Given the description of an element on the screen output the (x, y) to click on. 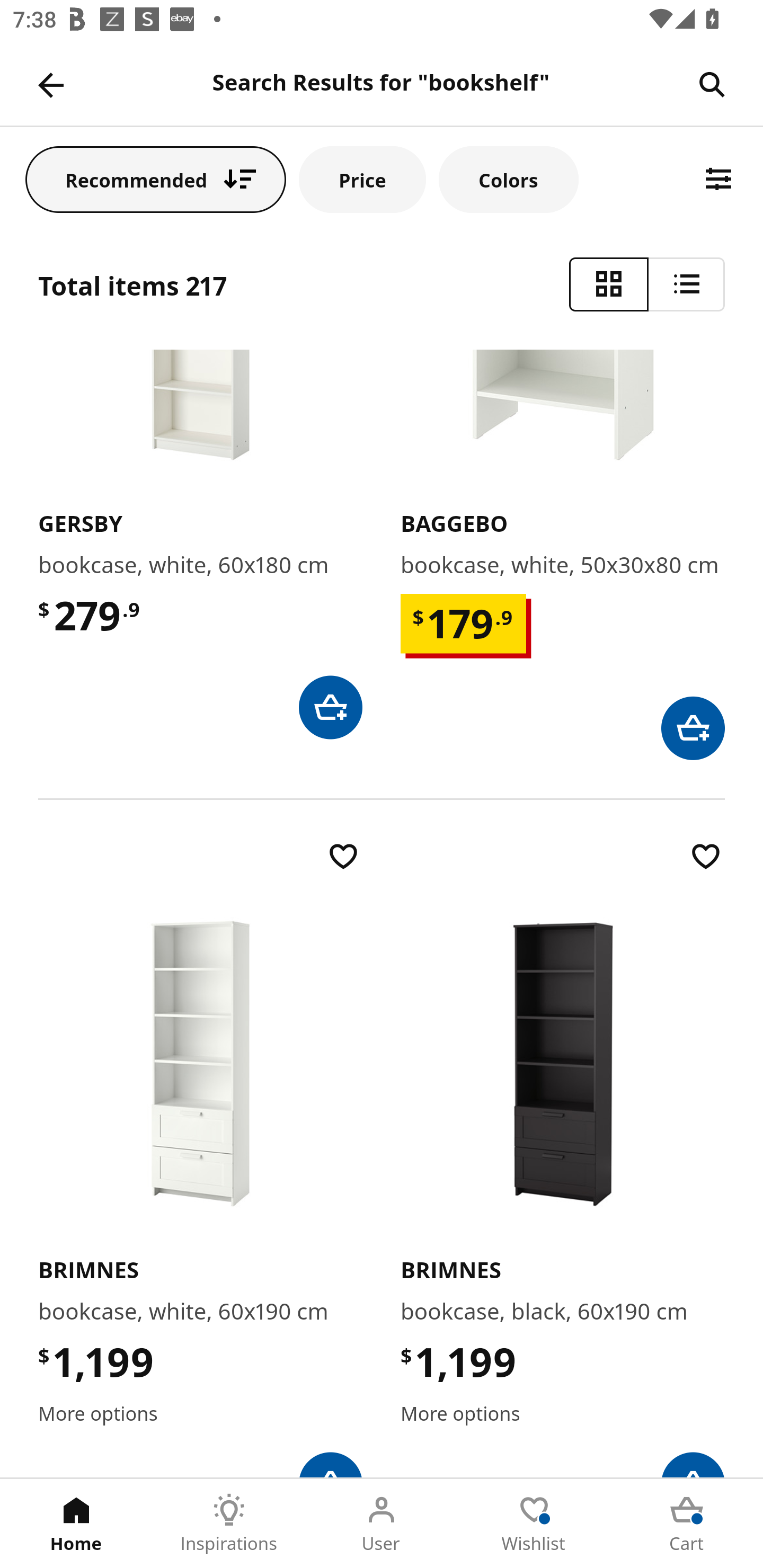
Recommended (155, 179)
Price (362, 179)
Colors (508, 179)
​G​E​R​S​B​Y​
bookcase, white, 60x180 cm
$
279
.9 (200, 543)
Home
Tab 1 of 5 (76, 1522)
Inspirations
Tab 2 of 5 (228, 1522)
User
Tab 3 of 5 (381, 1522)
Wishlist
Tab 4 of 5 (533, 1522)
Cart
Tab 5 of 5 (686, 1522)
